Given the description of an element on the screen output the (x, y) to click on. 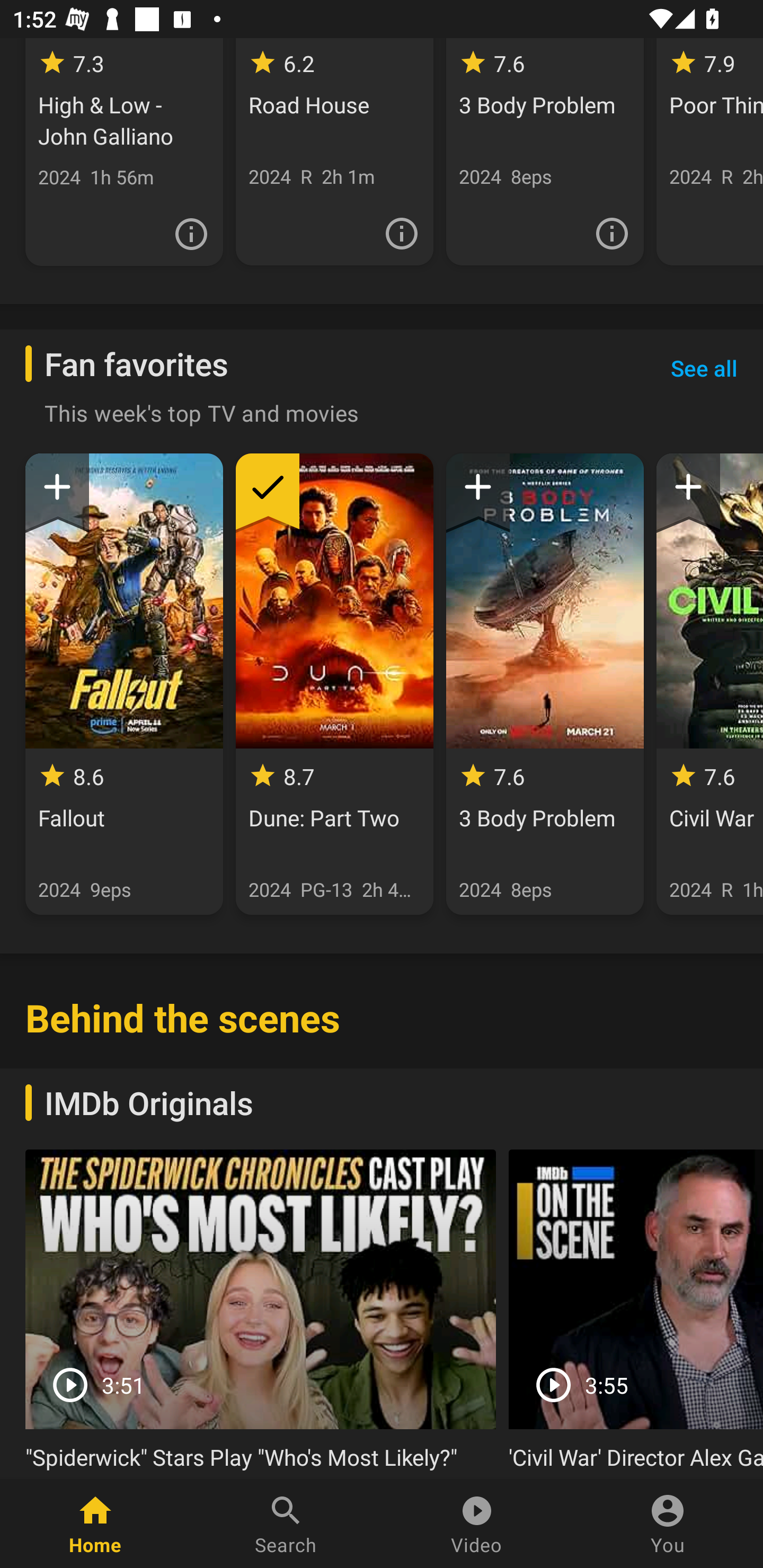
7.3 High & Low - John Galliano 2024  1h 56m (123, 151)
6.2 Road House 2024  R  2h 1m (334, 150)
7.6 3 Body Problem 2024  8eps (544, 150)
7.9 Poor Things 2024  R  2h 21m (709, 150)
See all See all Fan favorites (703, 367)
8.6 Fallout 2024  9eps (123, 683)
8.7 Dune: Part Two 2024  PG-13  2h 46m (334, 683)
7.6 3 Body Problem 2024  8eps (544, 683)
3:51 "Spiderwick" Stars Play "Who's Most Likely?" (260, 1313)
Search (285, 1523)
Video (476, 1523)
You (667, 1523)
